Given the description of an element on the screen output the (x, y) to click on. 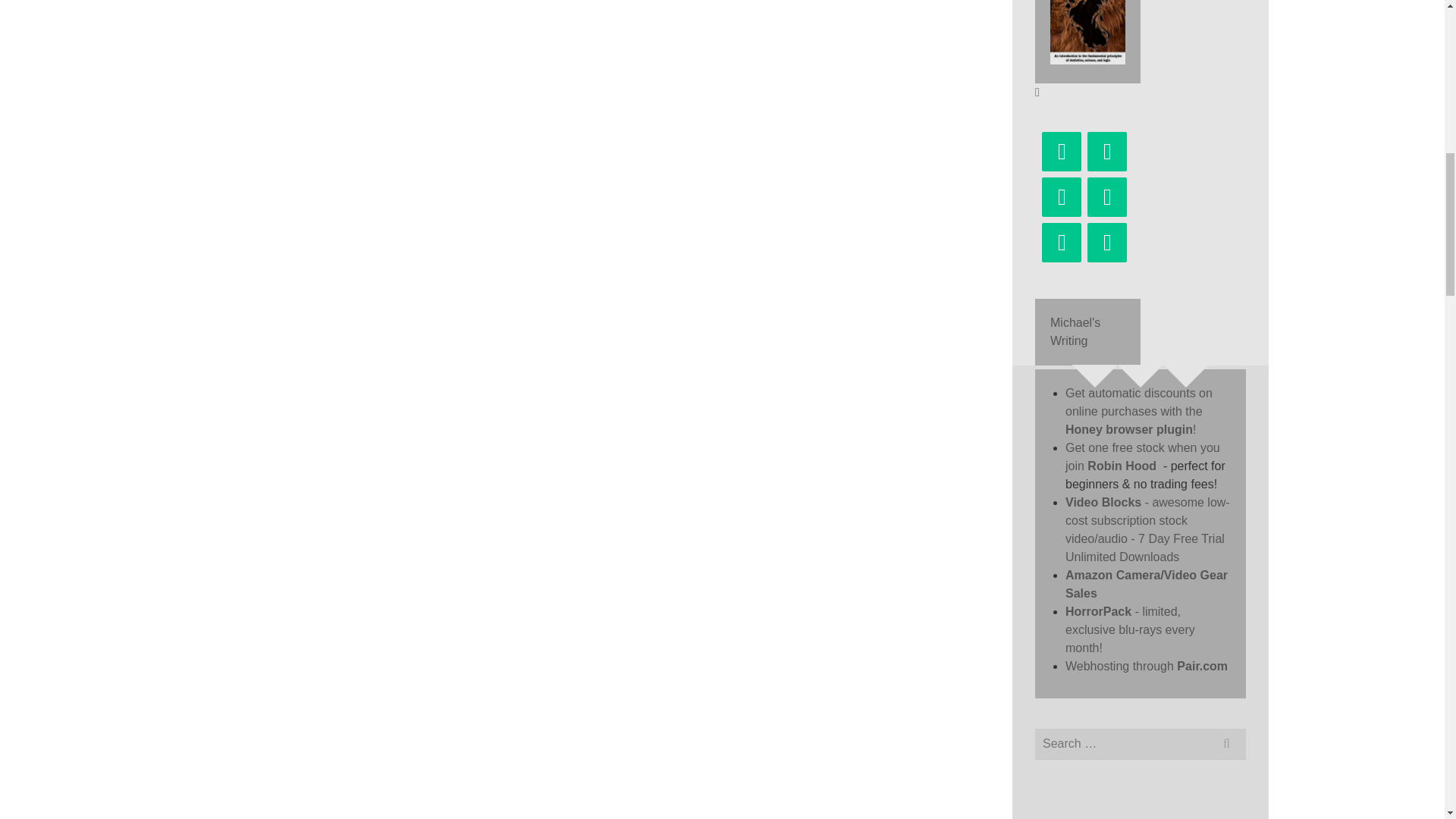
YouTube (1061, 242)
Twitter (1061, 197)
Facebook (1106, 151)
Vimeo (1106, 242)
Contact (1061, 151)
Instagram (1106, 197)
